Given the description of an element on the screen output the (x, y) to click on. 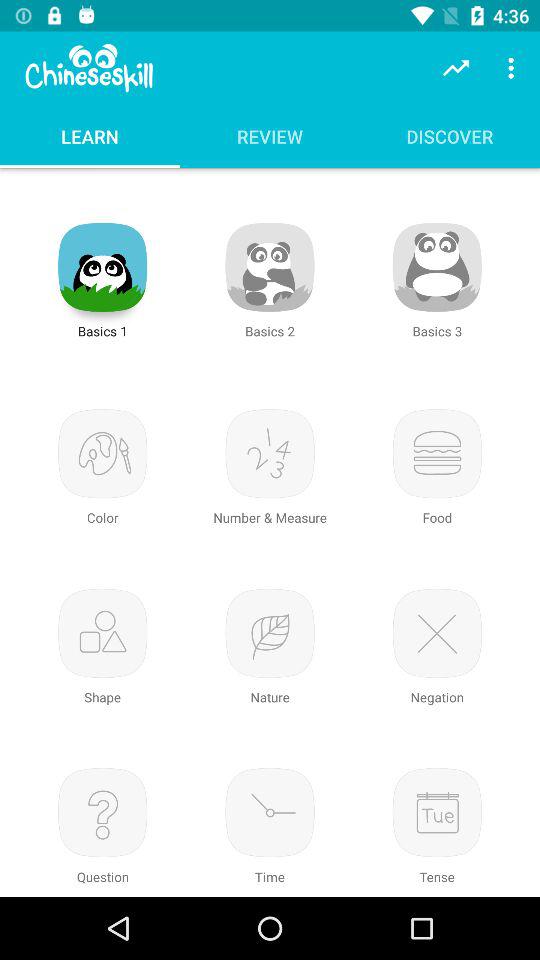
press icon above the discover (455, 67)
